Given the description of an element on the screen output the (x, y) to click on. 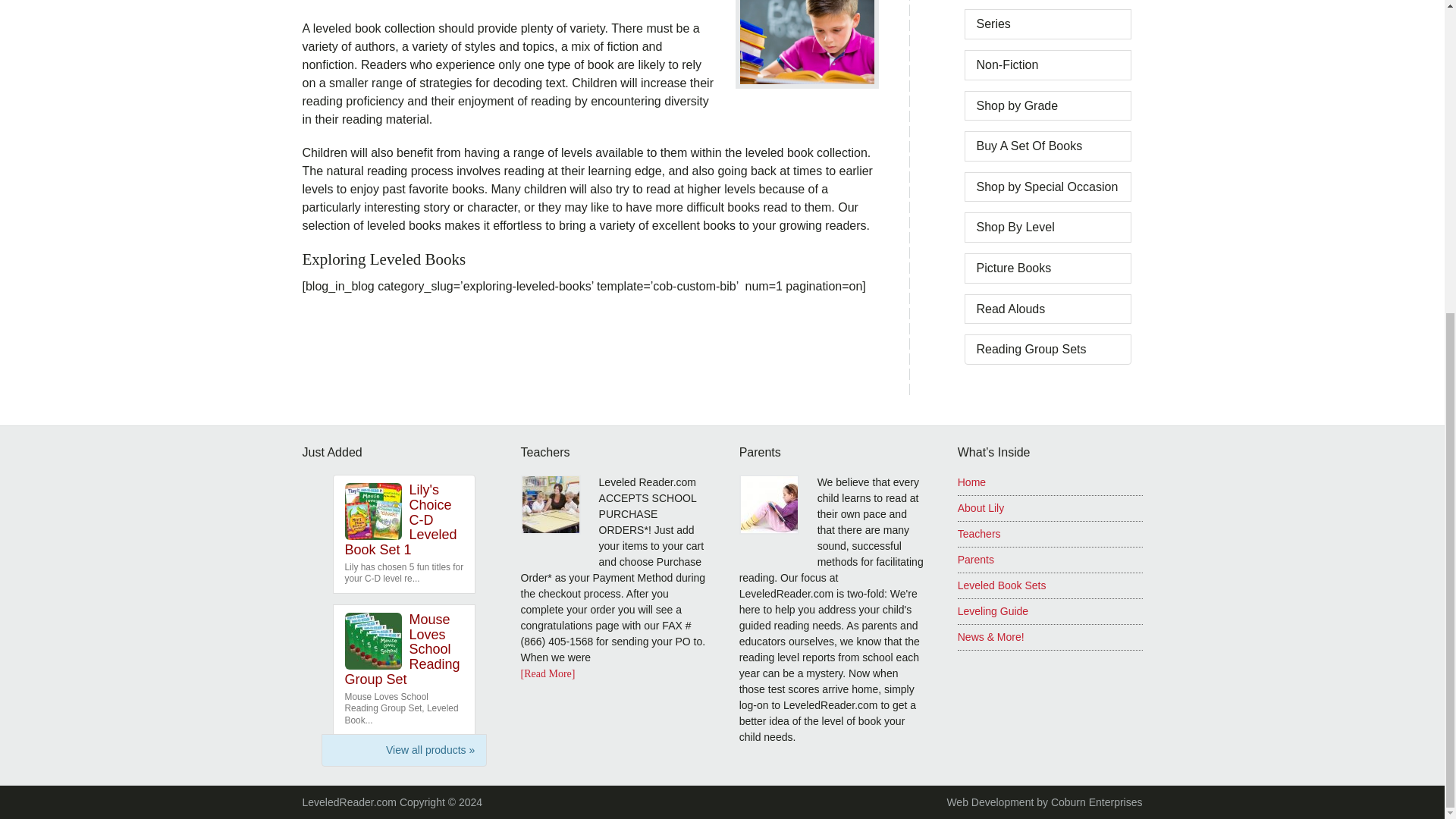
Picture Books (1013, 267)
Shop by Special Occasion (1047, 186)
Non-Fiction (1007, 64)
Read Alouds (1010, 308)
Lily's Choice C-D Leveled Book Set 1 (400, 519)
Mouse Loves School Reading Group Set (401, 649)
Shop by Special Occasion (1047, 186)
Picture Books (1013, 267)
Series (993, 23)
Read Alouds (1010, 308)
Buy A Set Of Books (1029, 145)
Shop by Grade (1017, 105)
Non-Fiction (1007, 64)
Shop By Level (1015, 226)
Buy A Set Of Books (1029, 145)
